Given the description of an element on the screen output the (x, y) to click on. 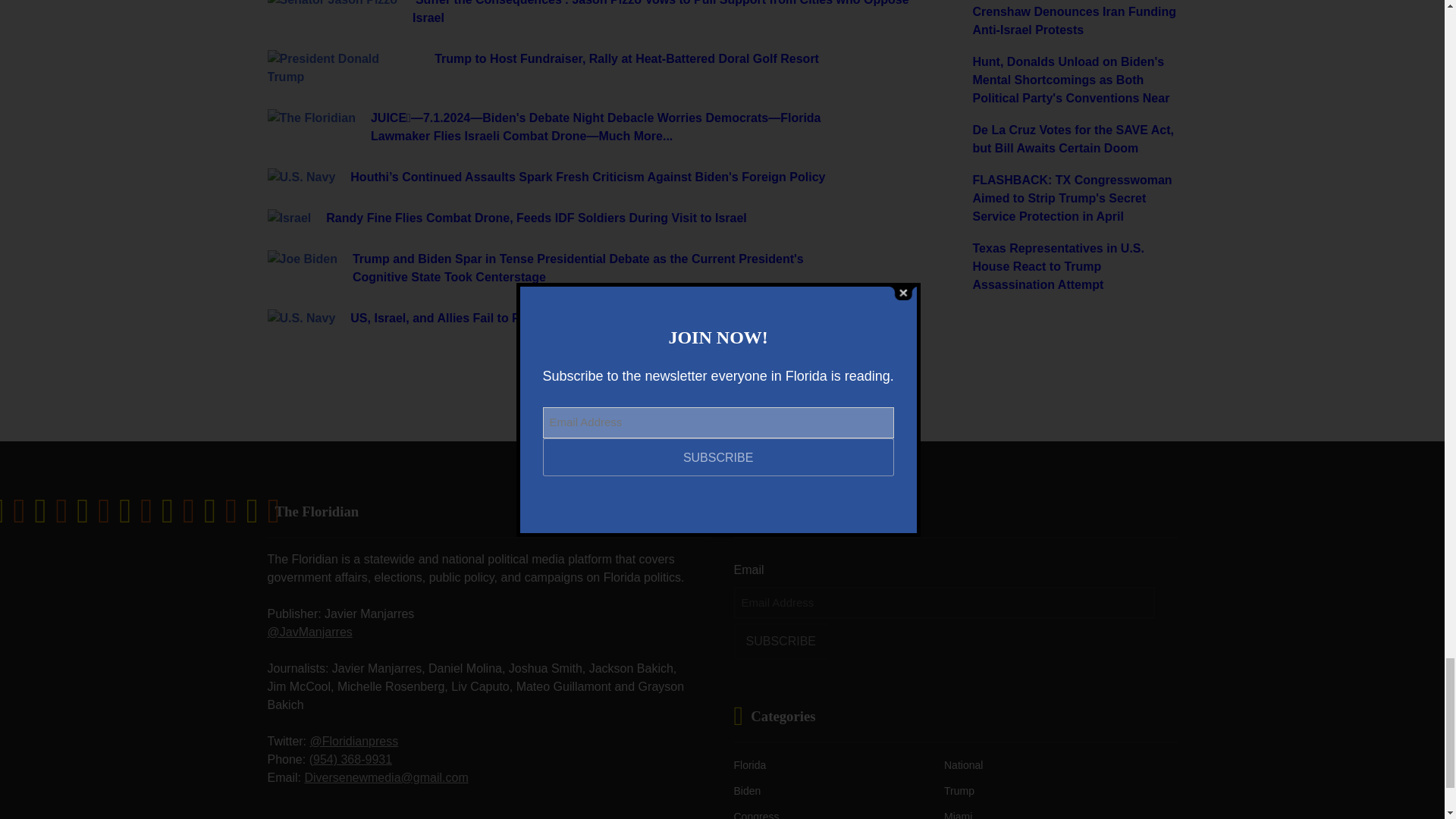
SUBSCRIBE (780, 641)
Crenshaw Denounces Iran Funding Anti-Israel Protests (1074, 21)
